Given the description of an element on the screen output the (x, y) to click on. 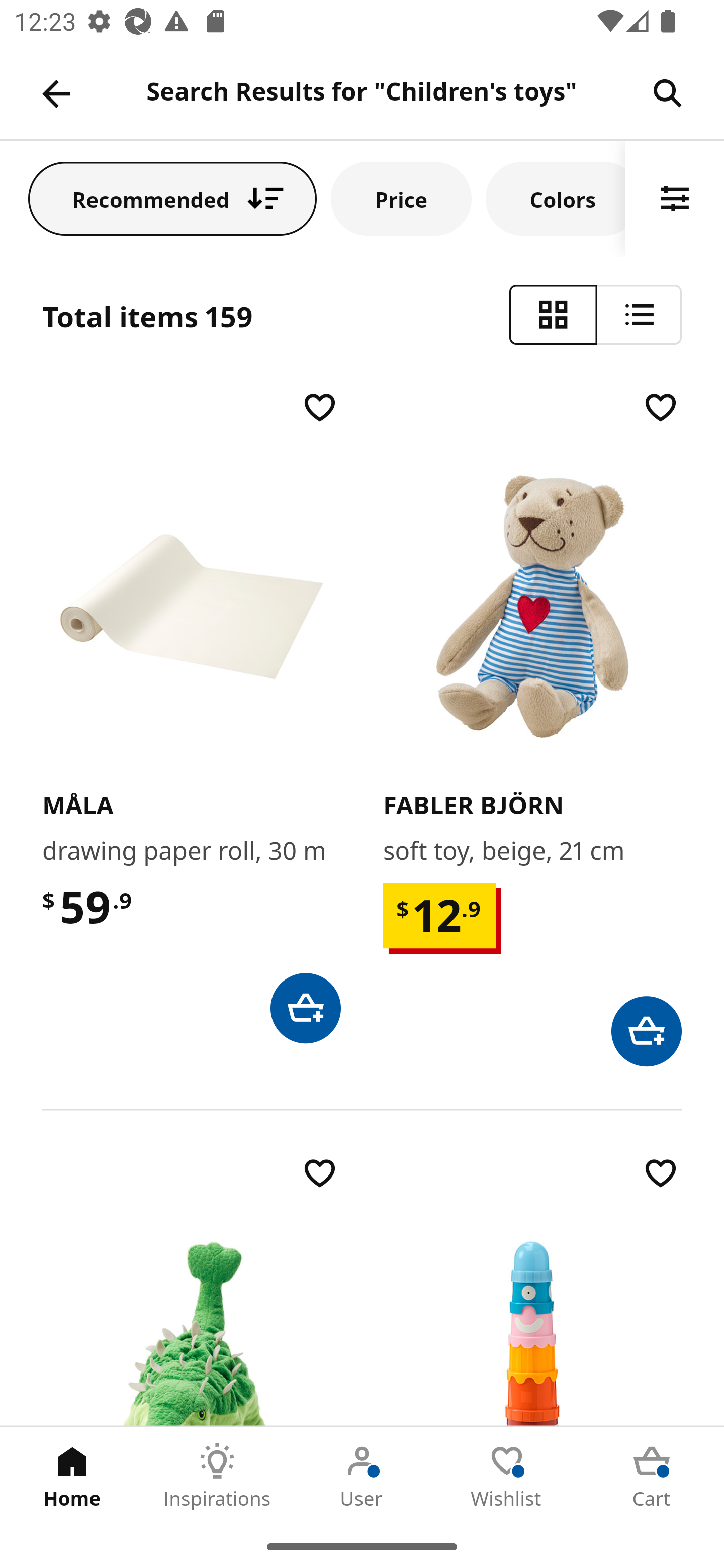
Recommended (172, 198)
Price (400, 198)
Colors (555, 198)
​M​Å​L​A​
drawing paper roll, 30 m
$
59
.9 (191, 714)
Home
Tab 1 of 5 (72, 1476)
Inspirations
Tab 2 of 5 (216, 1476)
User
Tab 3 of 5 (361, 1476)
Wishlist
Tab 4 of 5 (506, 1476)
Cart
Tab 5 of 5 (651, 1476)
